Given the description of an element on the screen output the (x, y) to click on. 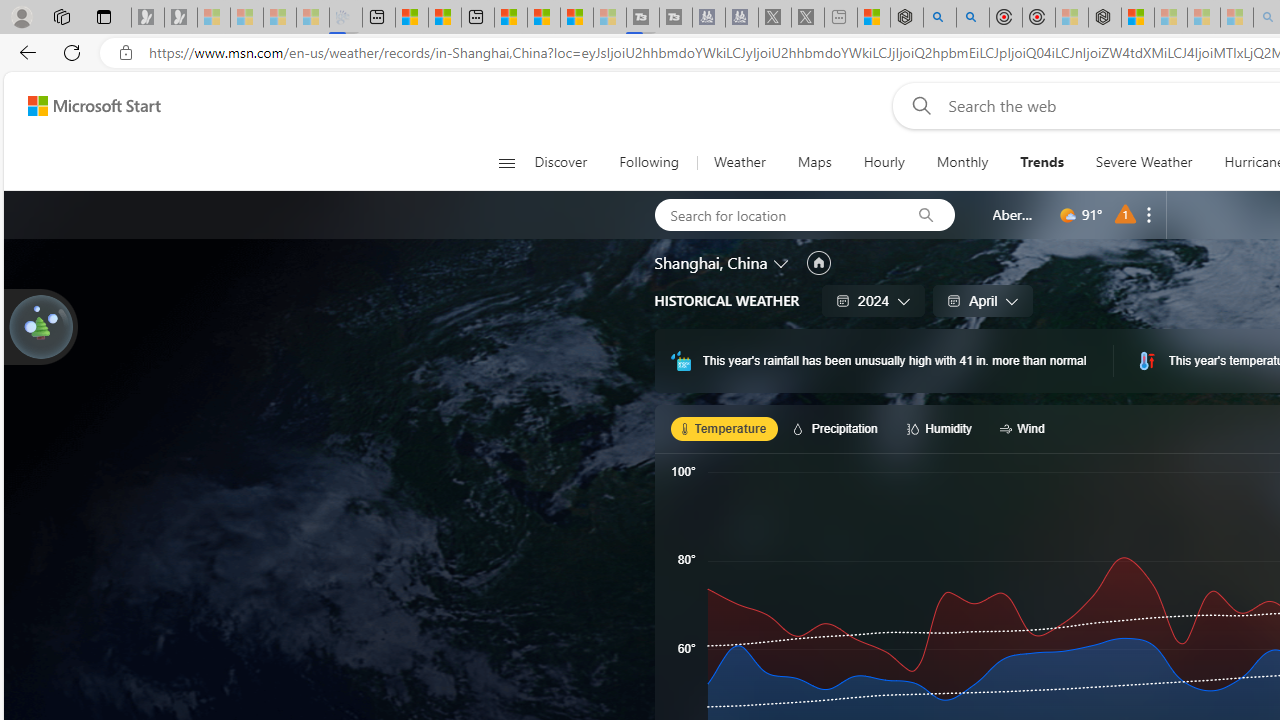
Temperature (724, 428)
Humidity (942, 428)
poe ++ standard - Search (973, 17)
Trends (1041, 162)
Aberdeen (1014, 214)
Maps (814, 162)
